Given the description of an element on the screen output the (x, y) to click on. 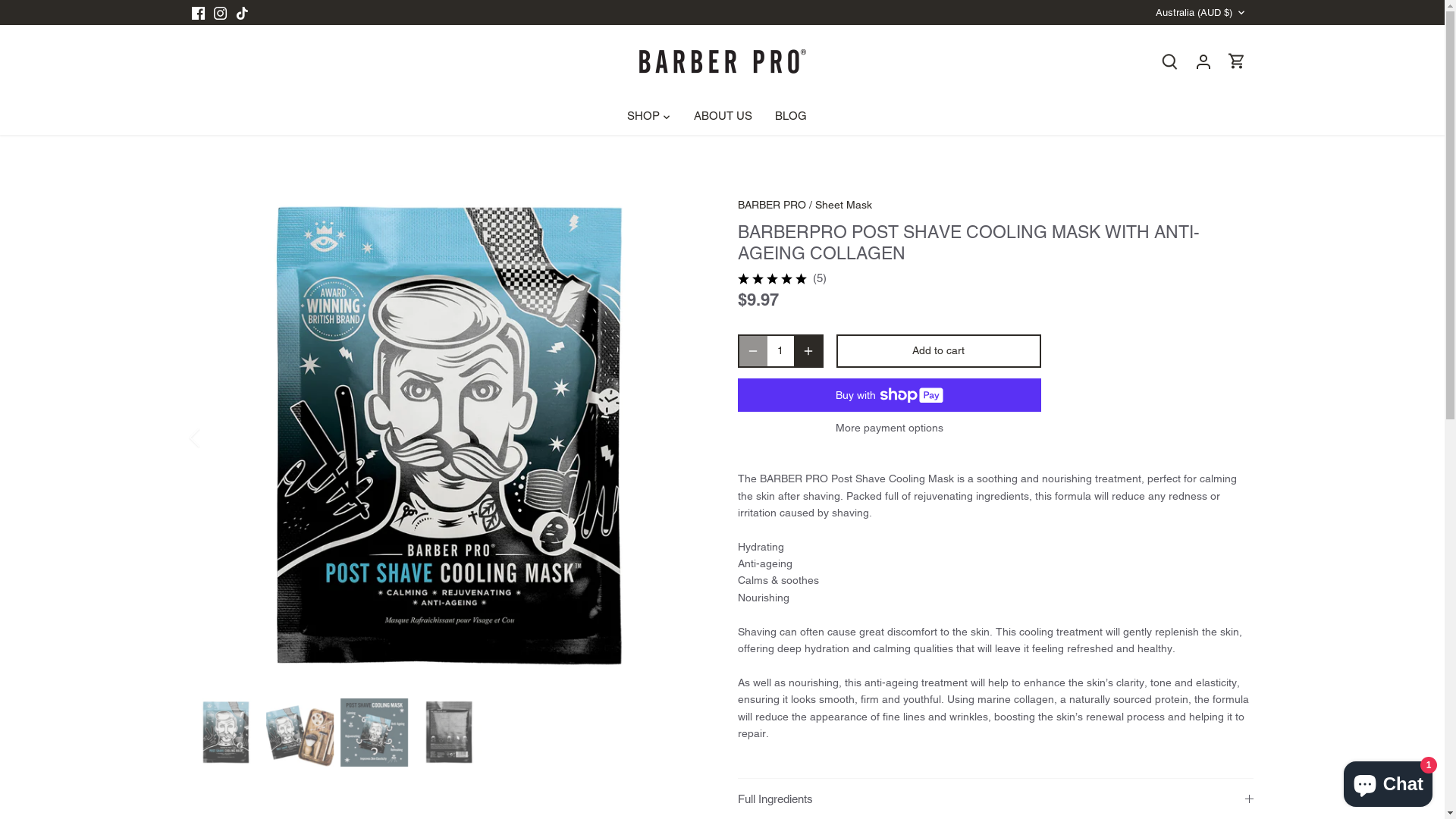
More payment options Element type: text (888, 427)
ABOUT US Element type: text (722, 116)
BARBER PRO Element type: text (771, 204)
Go to cart Element type: hover (1236, 60)
5
total reviews Element type: text (818, 277)
Instagram Element type: text (219, 12)
Facebook Element type: text (197, 12)
Australia (AUD $) Element type: text (1201, 12)
BLOG Element type: text (789, 116)
SHOP Element type: text (648, 116)
Add to cart Element type: text (937, 350)
Shopify online store chat Element type: hover (1388, 780)
Sheet Mask Element type: text (842, 204)
